Given the description of an element on the screen output the (x, y) to click on. 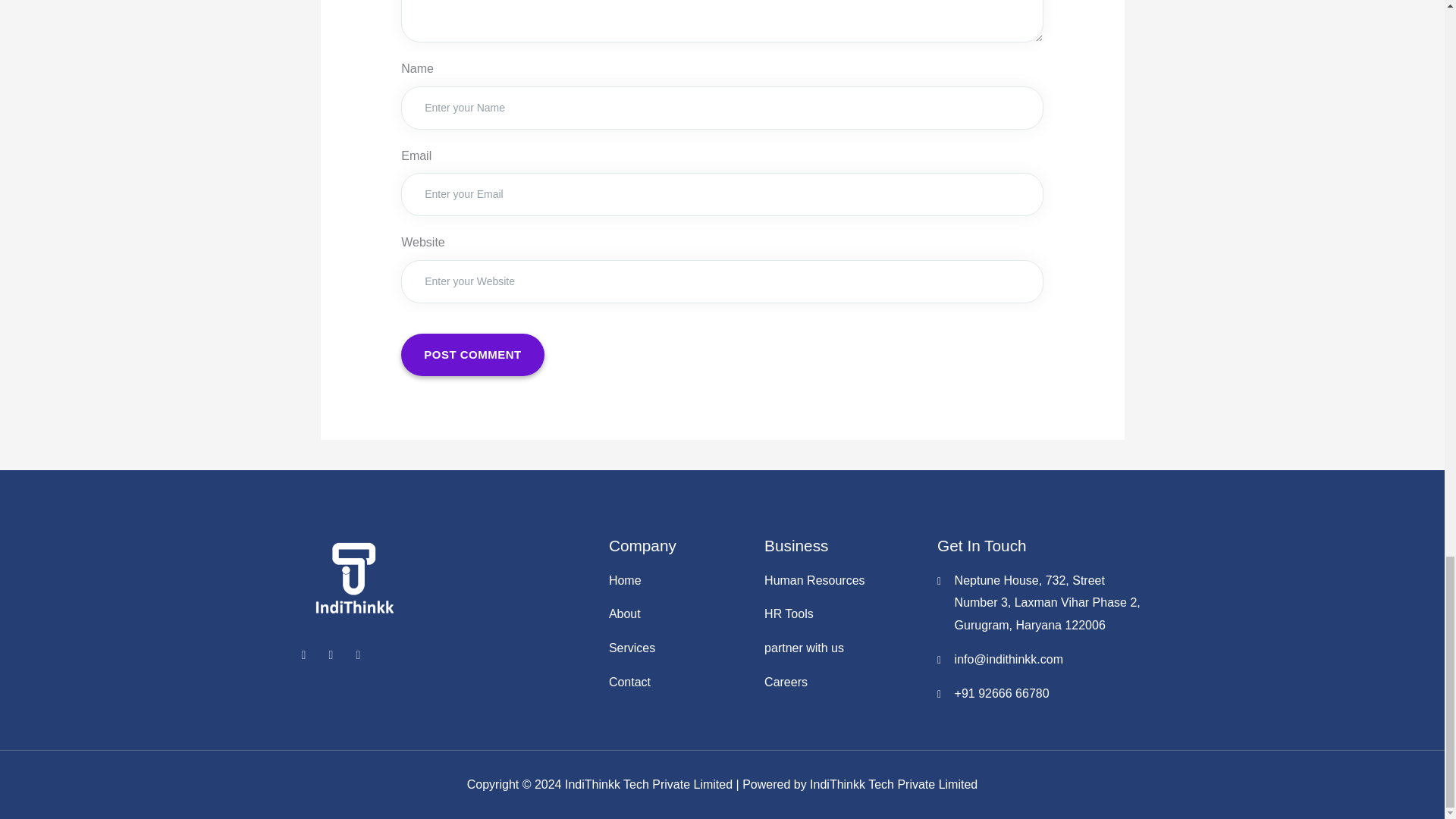
partner with us (842, 648)
Human Resources (842, 580)
Contact (678, 681)
Careers (842, 681)
Post Comment (472, 354)
About (678, 613)
Services (678, 648)
Post Comment (472, 354)
HR Tools (842, 613)
Home (678, 580)
